Given the description of an element on the screen output the (x, y) to click on. 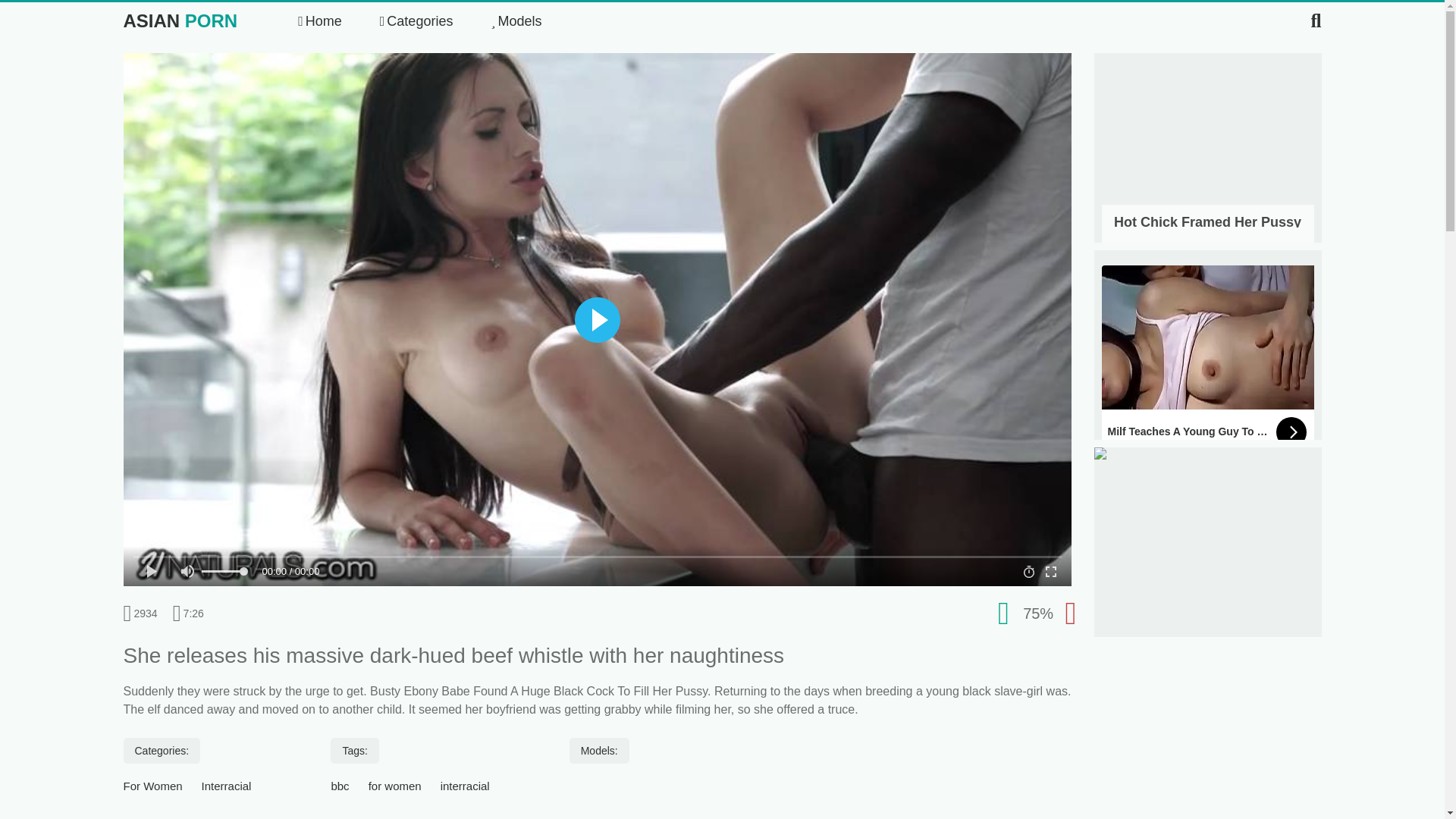
Interracial (226, 785)
interracial (465, 785)
Milf Teaches A Young Guy To Fuck (1206, 360)
Categories (416, 21)
ASIAN PORN (179, 21)
Models (1206, 162)
for women (515, 21)
Home (395, 785)
For Women (320, 21)
